Given the description of an element on the screen output the (x, y) to click on. 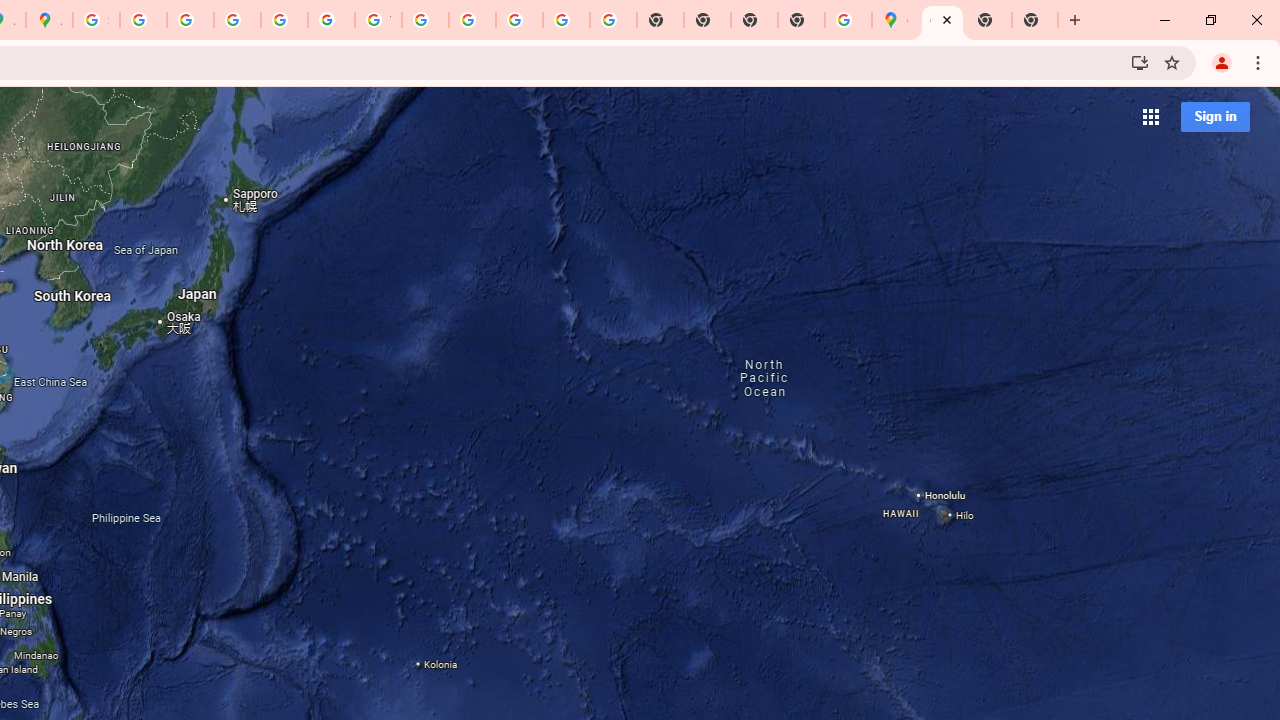
Install Google Maps (1139, 62)
New Tab (1035, 20)
Google Maps (895, 20)
New Tab (801, 20)
Google Maps (942, 20)
Privacy Help Center - Policies Help (237, 20)
